Given the description of an element on the screen output the (x, y) to click on. 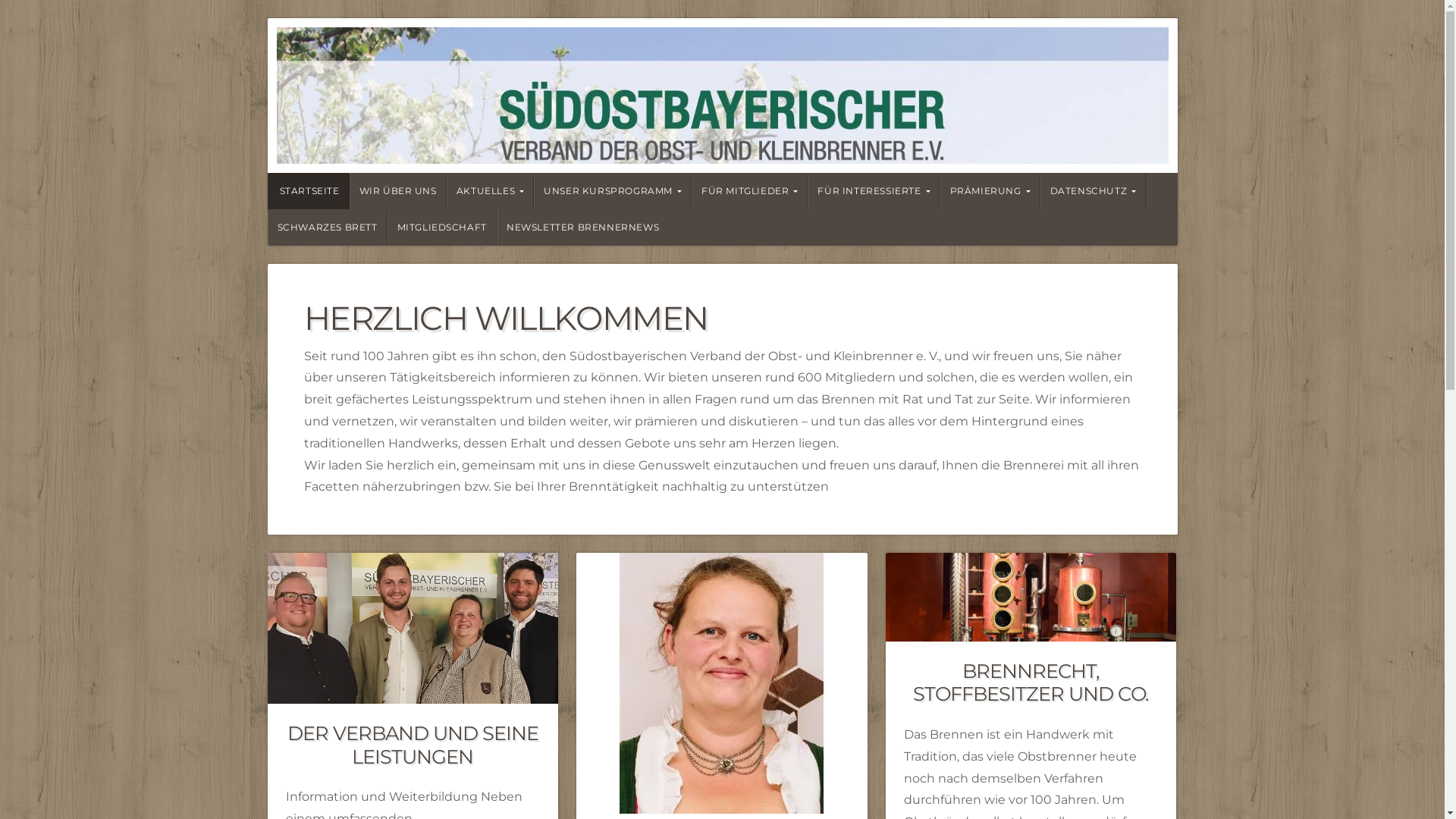
UNSER KURSPROGRAMM Element type: text (612, 190)
STARTSEITE Element type: text (307, 190)
MITGLIEDSCHAFT Element type: text (440, 227)
DATENSCHUTZ Element type: text (1093, 190)
SCHWARZES BRETT Element type: text (326, 227)
Permalink to Brennrecht, Stoffbesitzer und Co. Element type: hover (1030, 596)
AKTUELLES Element type: text (489, 190)
NEWSLETTER BRENNERNEWS Element type: text (582, 227)
Permalink to Der Verband und seine Leistungen Element type: hover (412, 627)
